Given the description of an element on the screen output the (x, y) to click on. 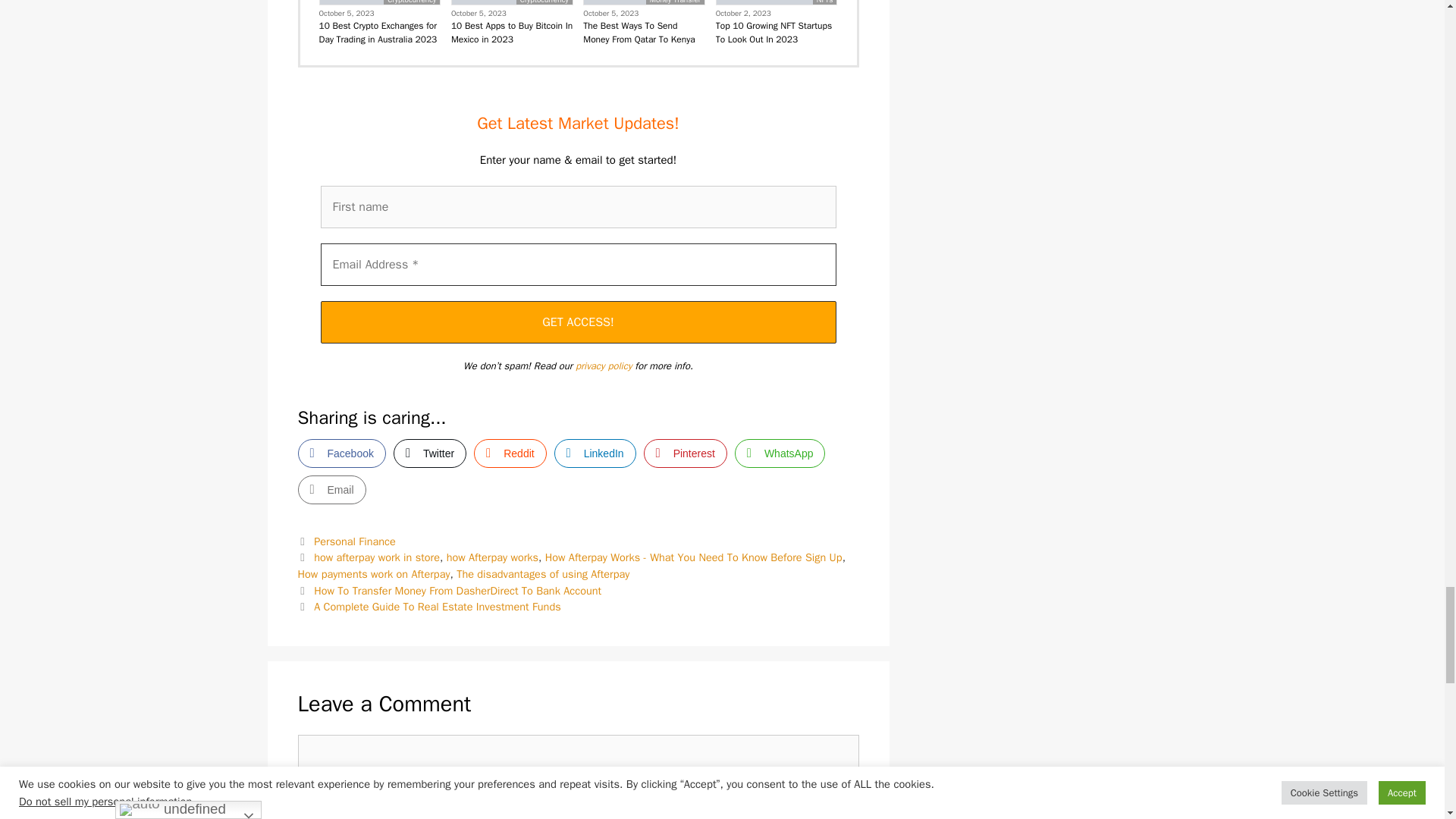
GET ACCESS! (577, 322)
10 Best Crypto Exchanges for Day Trading in Australia 2023 (379, 31)
10 Best Apps to Buy Bitcoin In Mexico in 2023 (512, 31)
The Best Ways To Send Money From Qatar To Kenya 3 (643, 2)
Cryptocurrency (544, 2)
The Best Ways To Send Money From Qatar To Kenya (643, 31)
Email Address (577, 264)
Top 10 Growing NFT Startups To Look Out In 2023 4 (776, 2)
10 Best Crypto Exchanges for Day Trading in Australia 2023 1 (380, 2)
10 Best Apps to Buy Bitcoin In Mexico in 2023 2 (511, 2)
Cryptocurrency (411, 2)
First name (577, 206)
Money Transfer (675, 2)
